Given the description of an element on the screen output the (x, y) to click on. 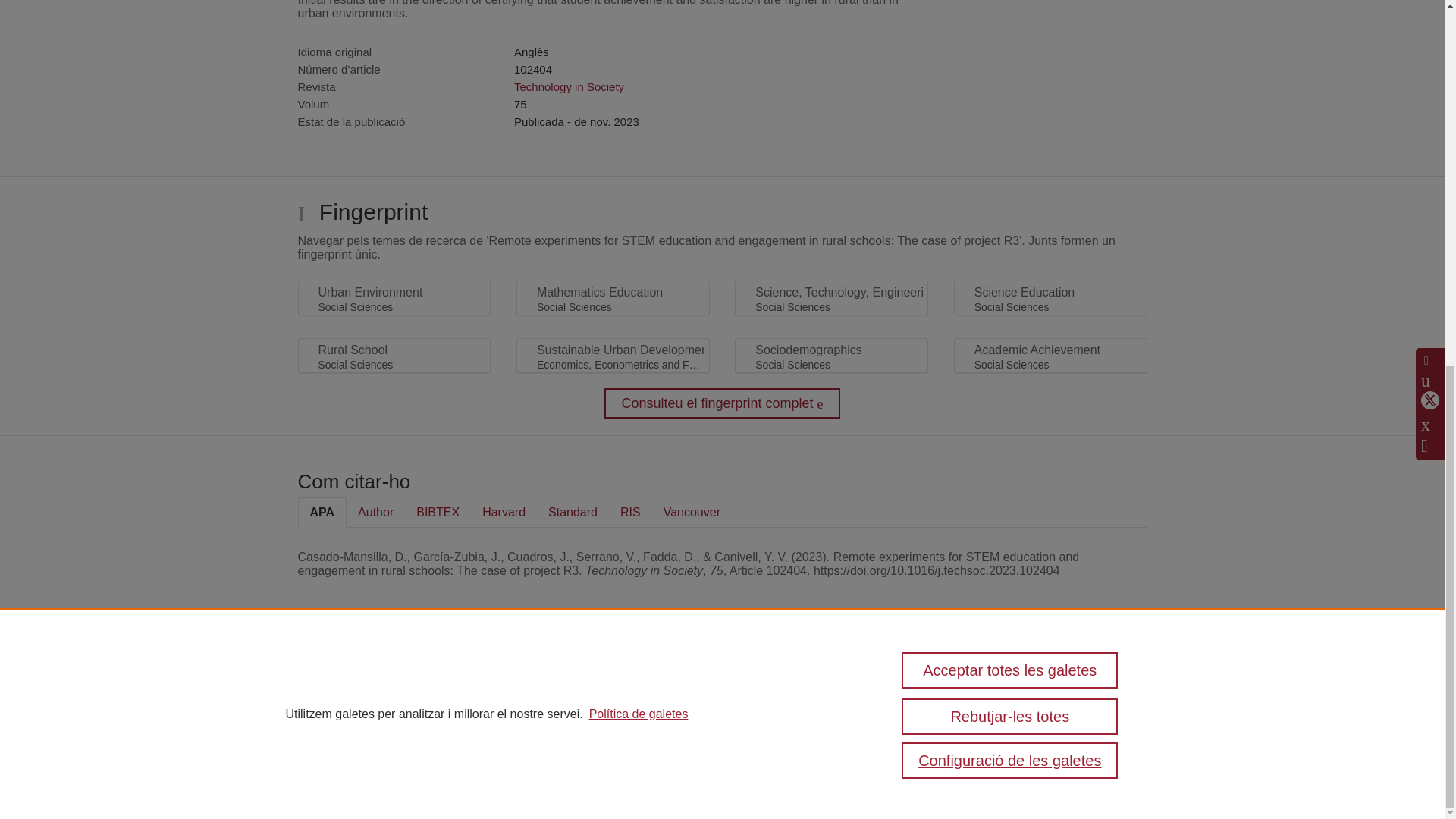
Technology in Society (568, 86)
Pure (365, 676)
Scopus (396, 676)
Elsevier B.V. (534, 696)
Consulteu el fingerprint complet (722, 403)
